Given the description of an element on the screen output the (x, y) to click on. 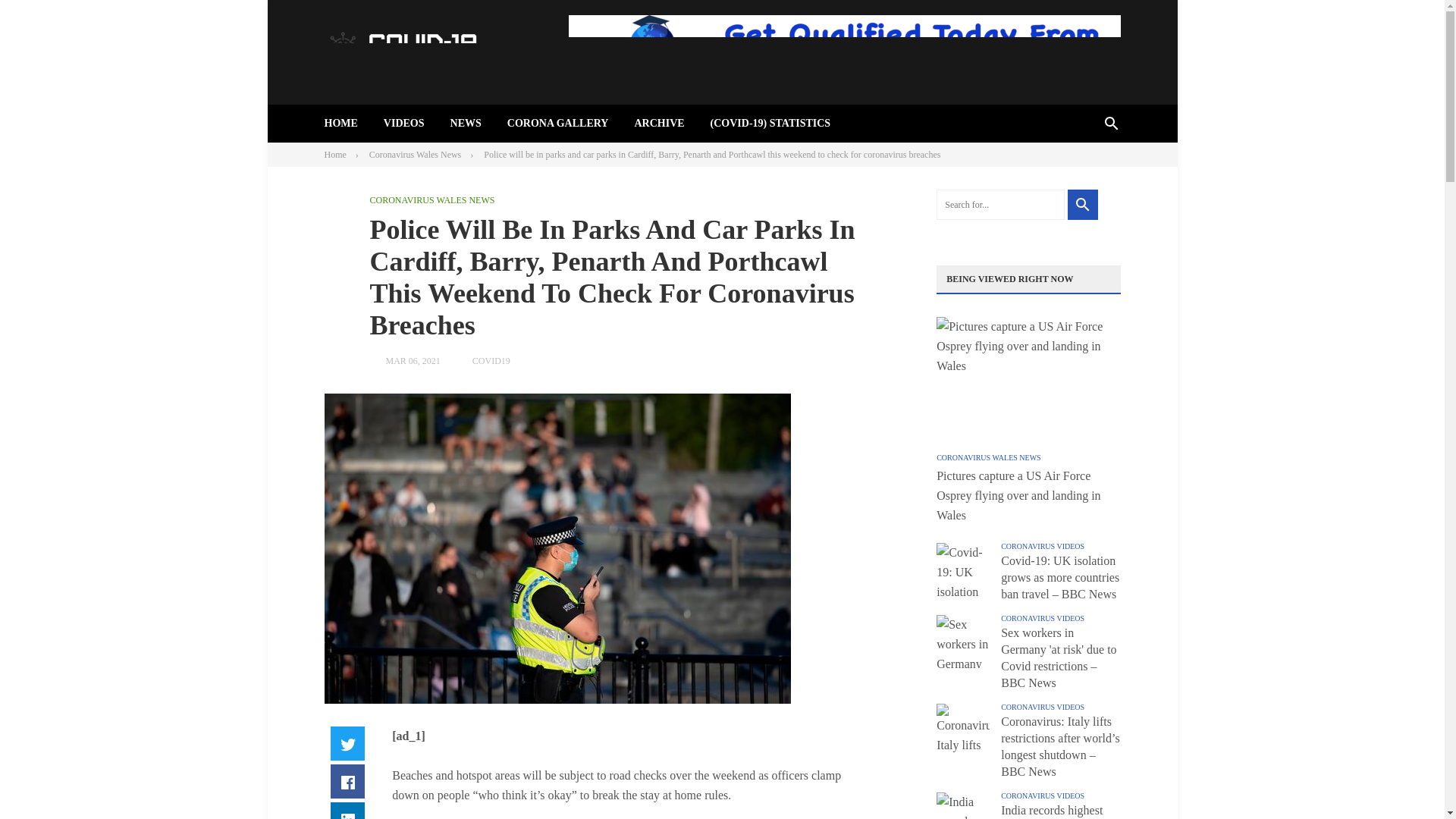
CORONA GALLERY (557, 123)
COVID19 (491, 360)
LinkedIn (347, 810)
Search for: (1000, 204)
Facebook (347, 781)
MAR 06, 2021 (412, 360)
Home (335, 154)
Coronavirus Wales News (415, 154)
VIDEOS (404, 123)
Twitter (347, 743)
